Given the description of an element on the screen output the (x, y) to click on. 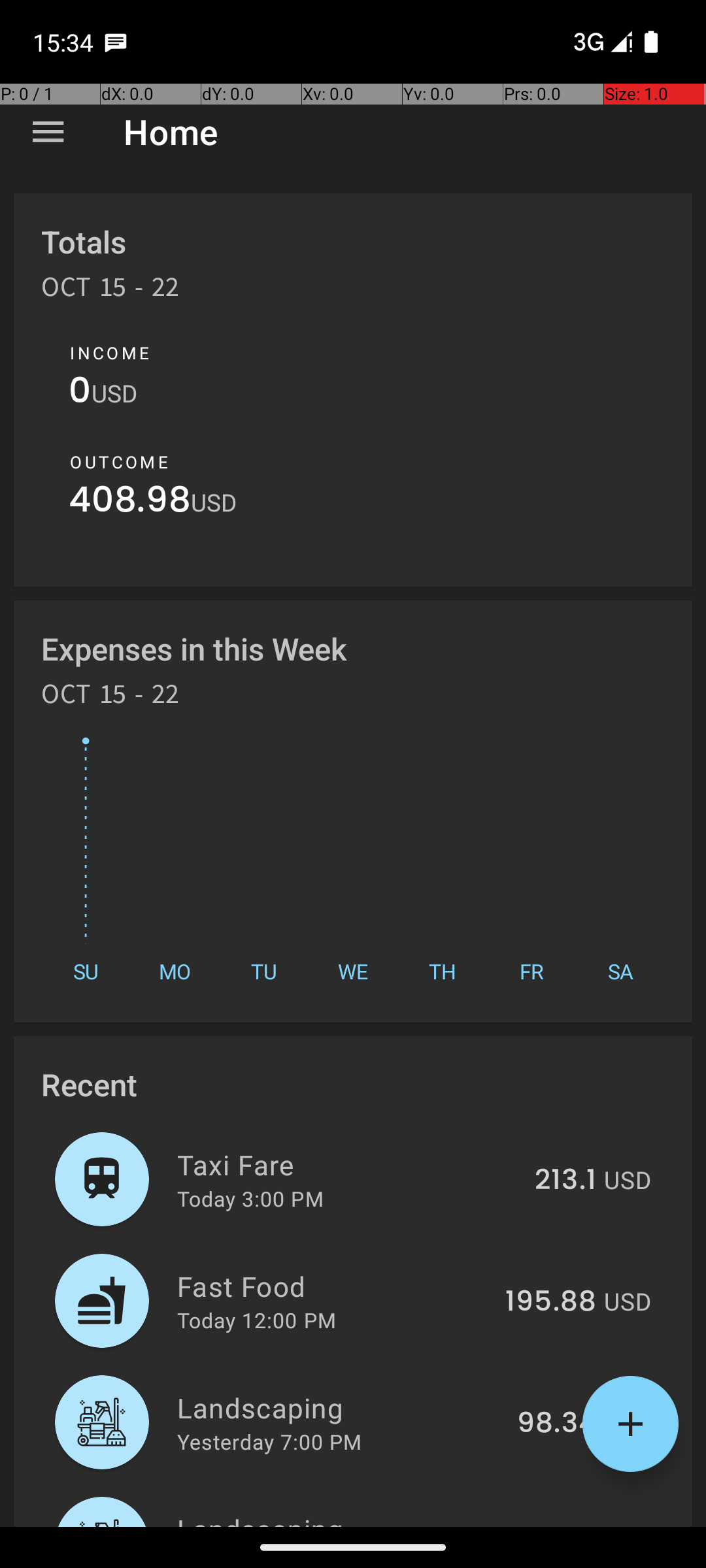
408.98 Element type: android.widget.TextView (129, 502)
Taxi Fare Element type: android.widget.TextView (348, 1164)
Today 3:00 PM Element type: android.widget.TextView (250, 1198)
213.1 Element type: android.widget.TextView (565, 1180)
Fast Food Element type: android.widget.TextView (333, 1285)
Today 12:00 PM Element type: android.widget.TextView (256, 1320)
195.88 Element type: android.widget.TextView (550, 1301)
Landscaping Element type: android.widget.TextView (339, 1407)
Yesterday 7:00 PM Element type: android.widget.TextView (269, 1441)
98.34 Element type: android.widget.TextView (556, 1423)
